Given the description of an element on the screen output the (x, y) to click on. 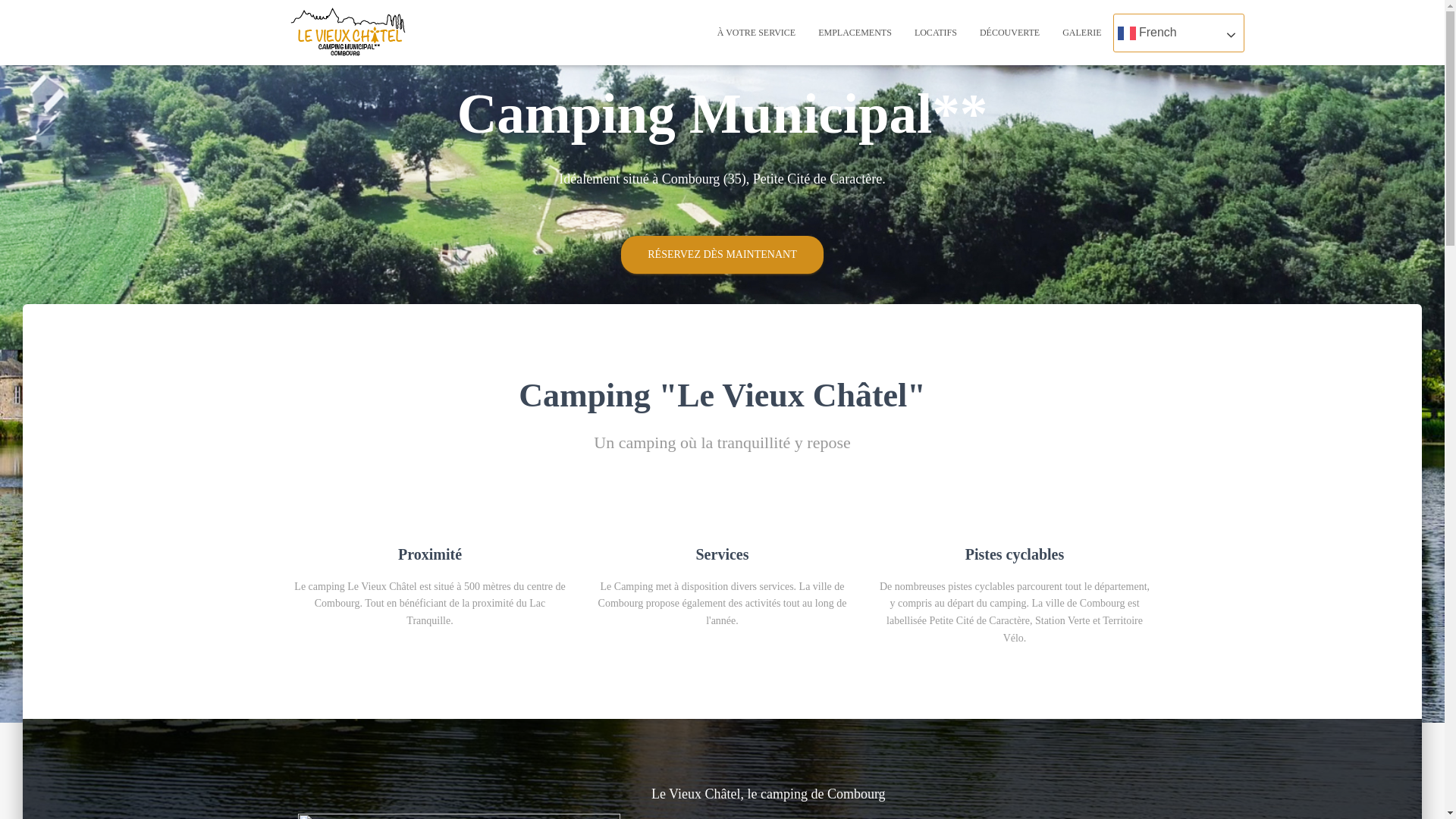
Pistes cyclables Element type: text (1014, 554)
LOCATIFS Element type: text (935, 32)
EMPLACEMENTS Element type: text (854, 32)
French Element type: text (1178, 32)
Services Element type: text (721, 554)
Rechercher Element type: text (17, 16)
GALERIE Element type: text (1081, 32)
